Given the description of an element on the screen output the (x, y) to click on. 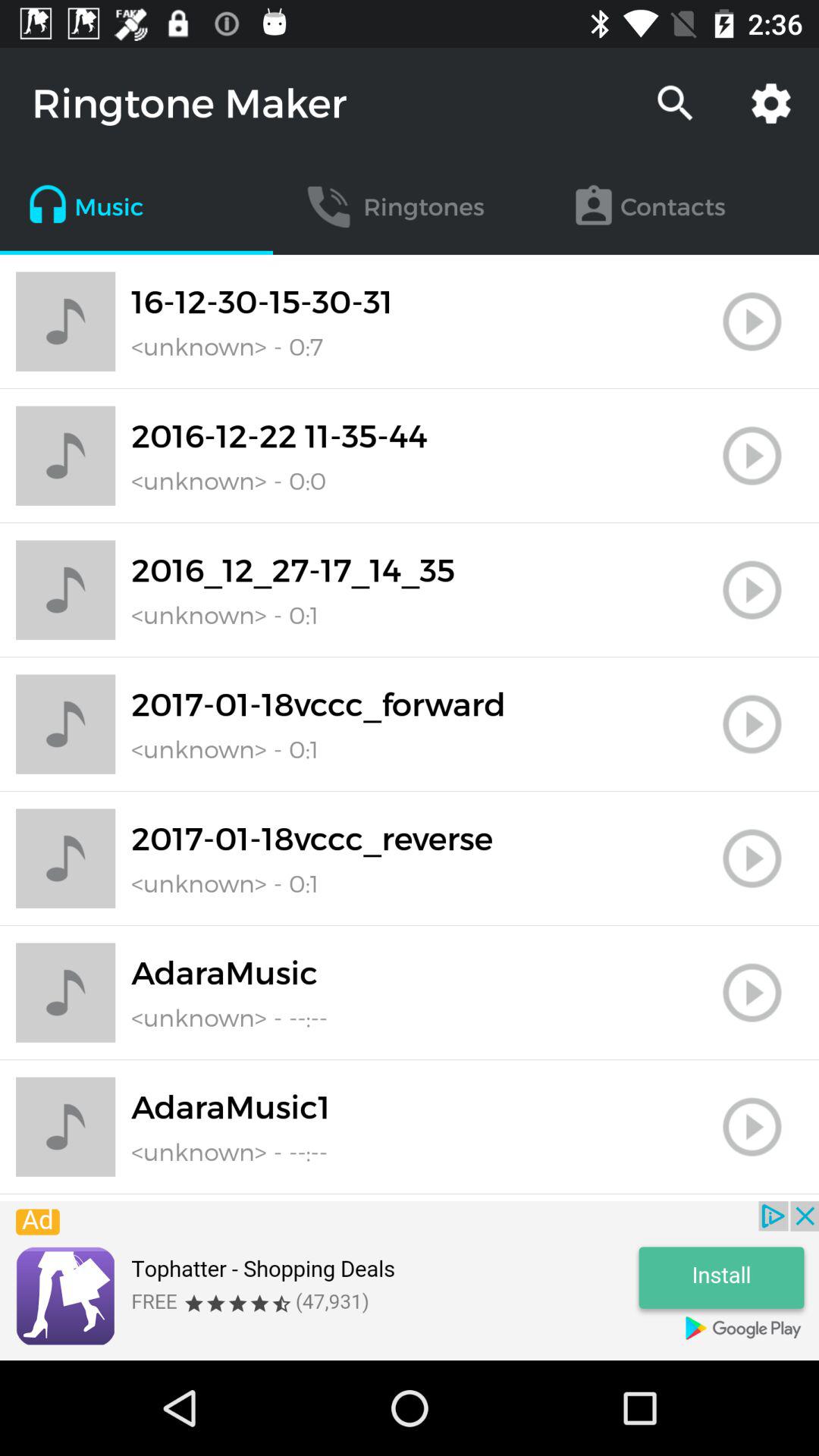
go to next (752, 455)
